Given the description of an element on the screen output the (x, y) to click on. 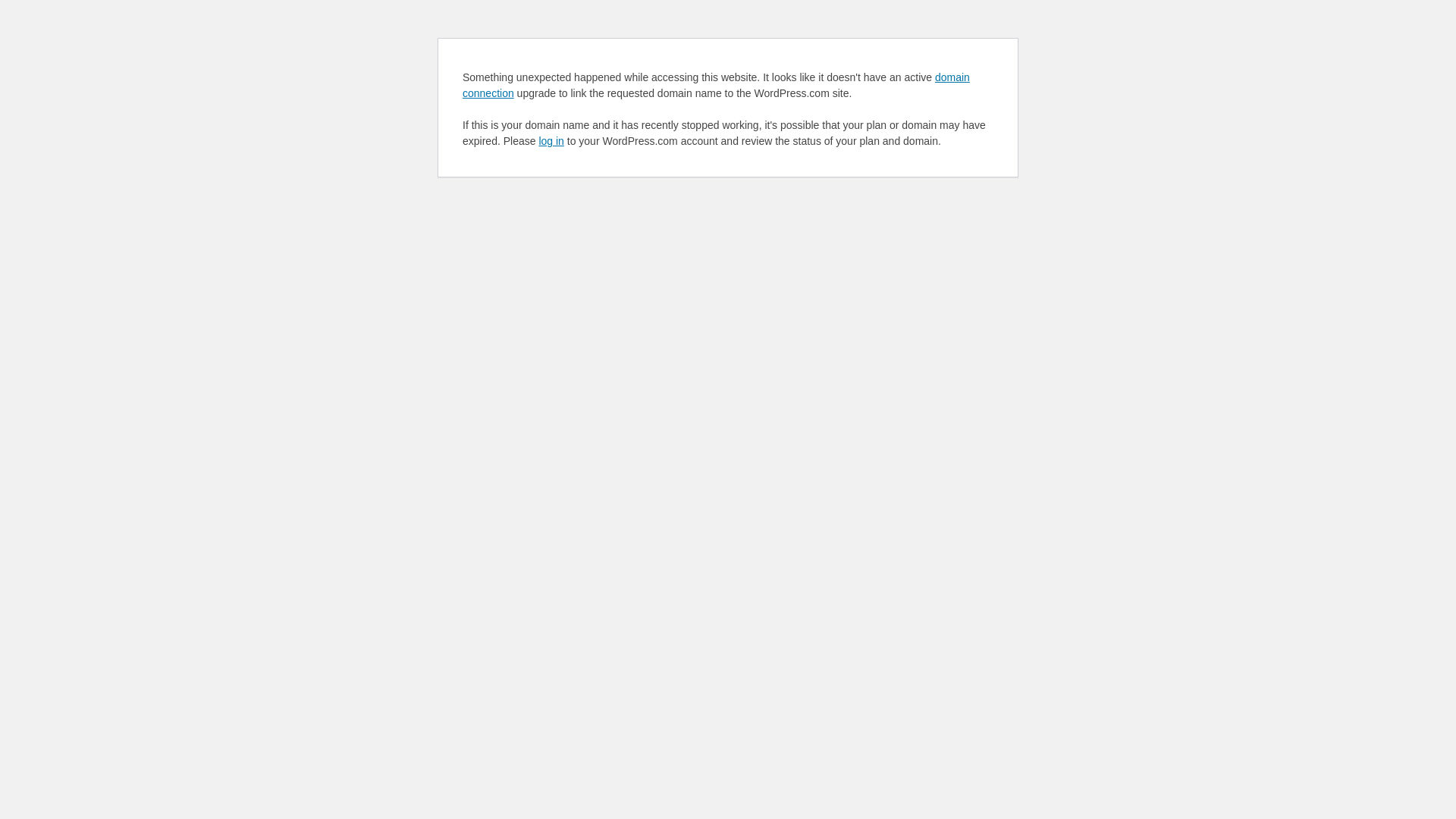
log in Element type: text (550, 140)
domain connection Element type: text (715, 85)
